Given the description of an element on the screen output the (x, y) to click on. 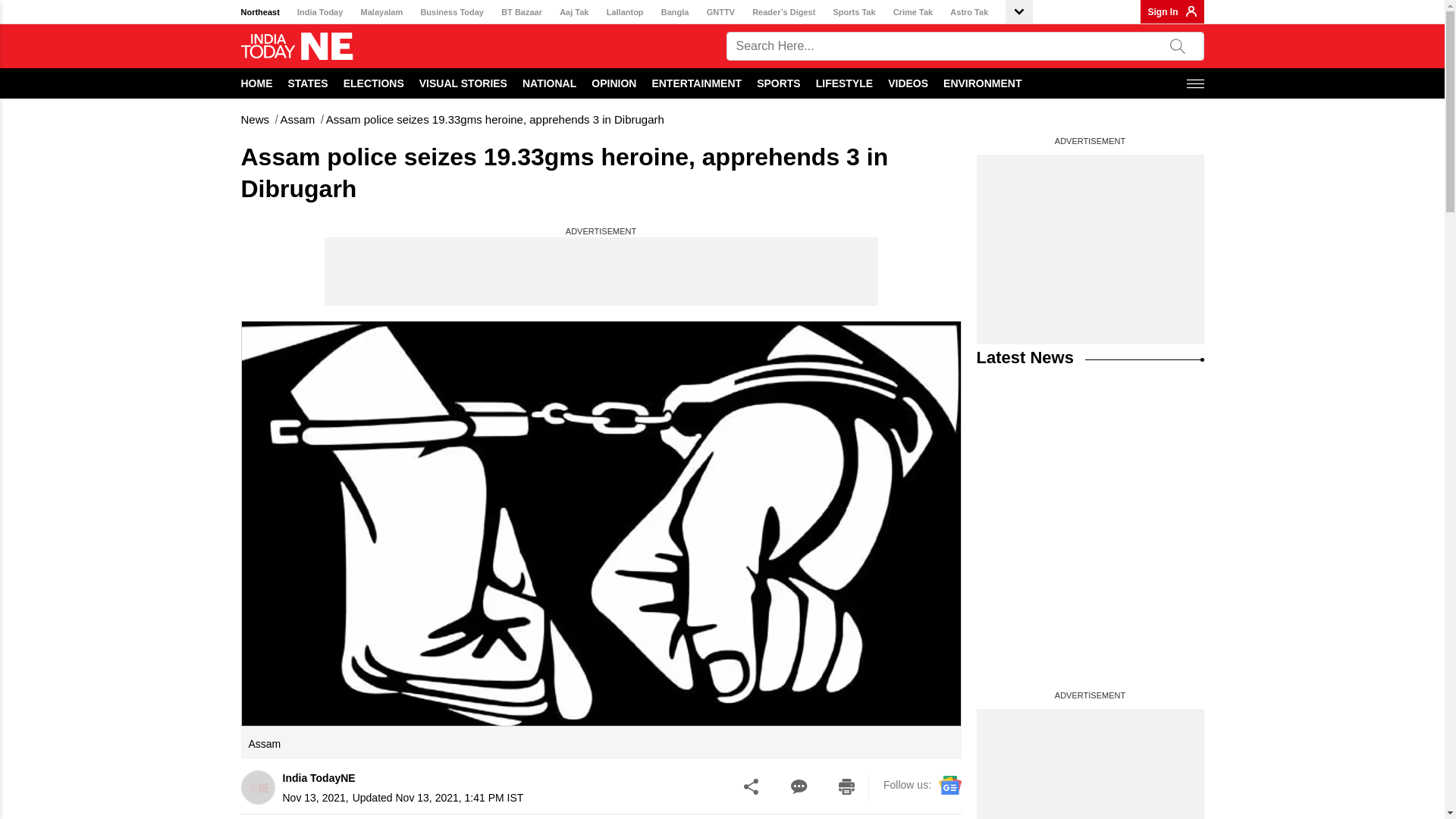
Astro Tak (969, 12)
Sports Tak (854, 12)
Business Today (451, 12)
ELECTIONS (373, 82)
Bangla (674, 12)
Aaj Tak (573, 12)
Malayalam (382, 12)
VISUAL STORIES (462, 82)
BT Bazaar (520, 12)
Astro Tak (969, 12)
